Given the description of an element on the screen output the (x, y) to click on. 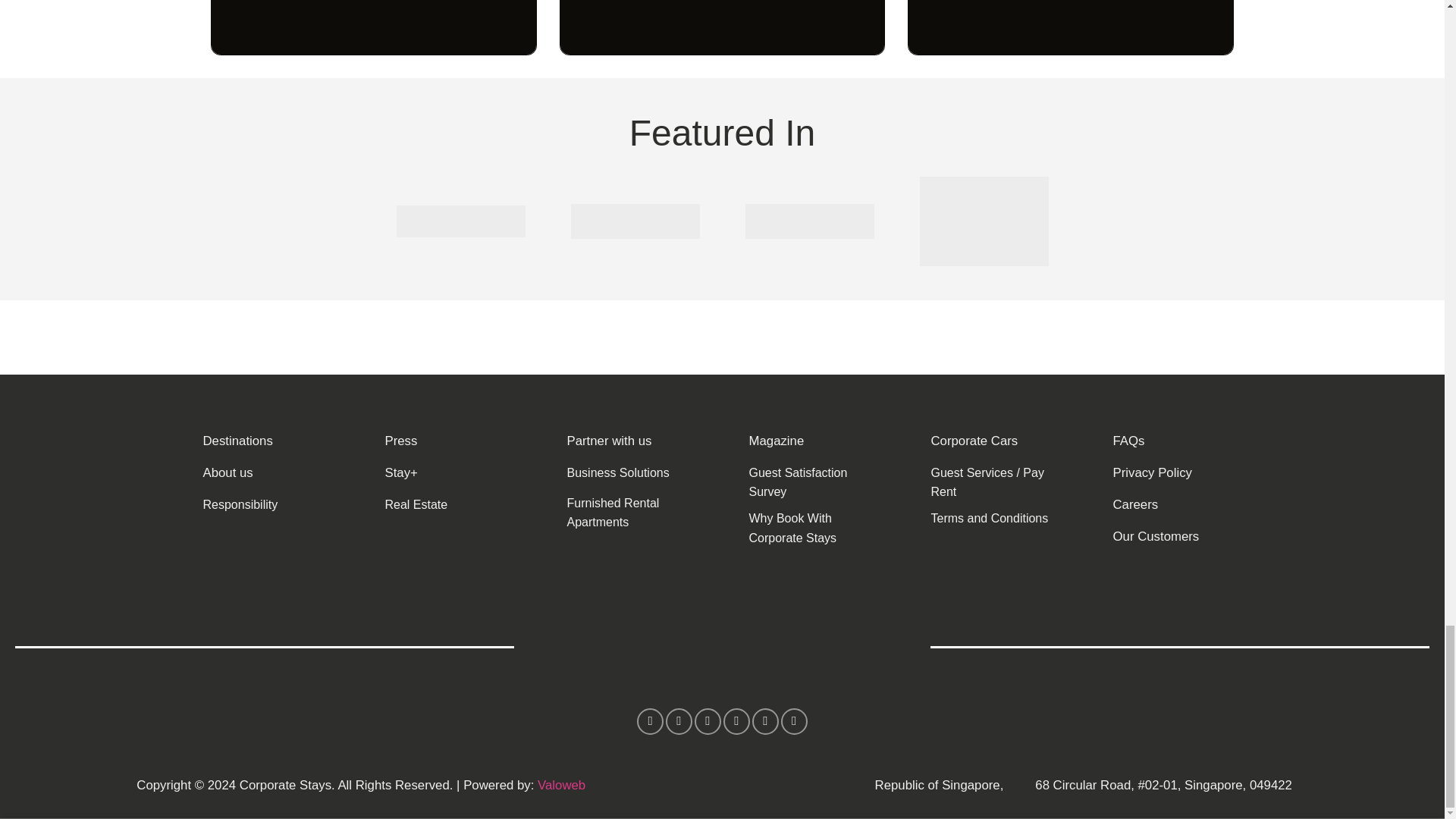
Follow on TikTok (707, 721)
Follow on Facebook (650, 721)
Follow on YouTube (794, 721)
Follow on X (736, 721)
Follow on Instagram (679, 721)
Follow on LinkedIn (765, 721)
